Given the description of an element on the screen output the (x, y) to click on. 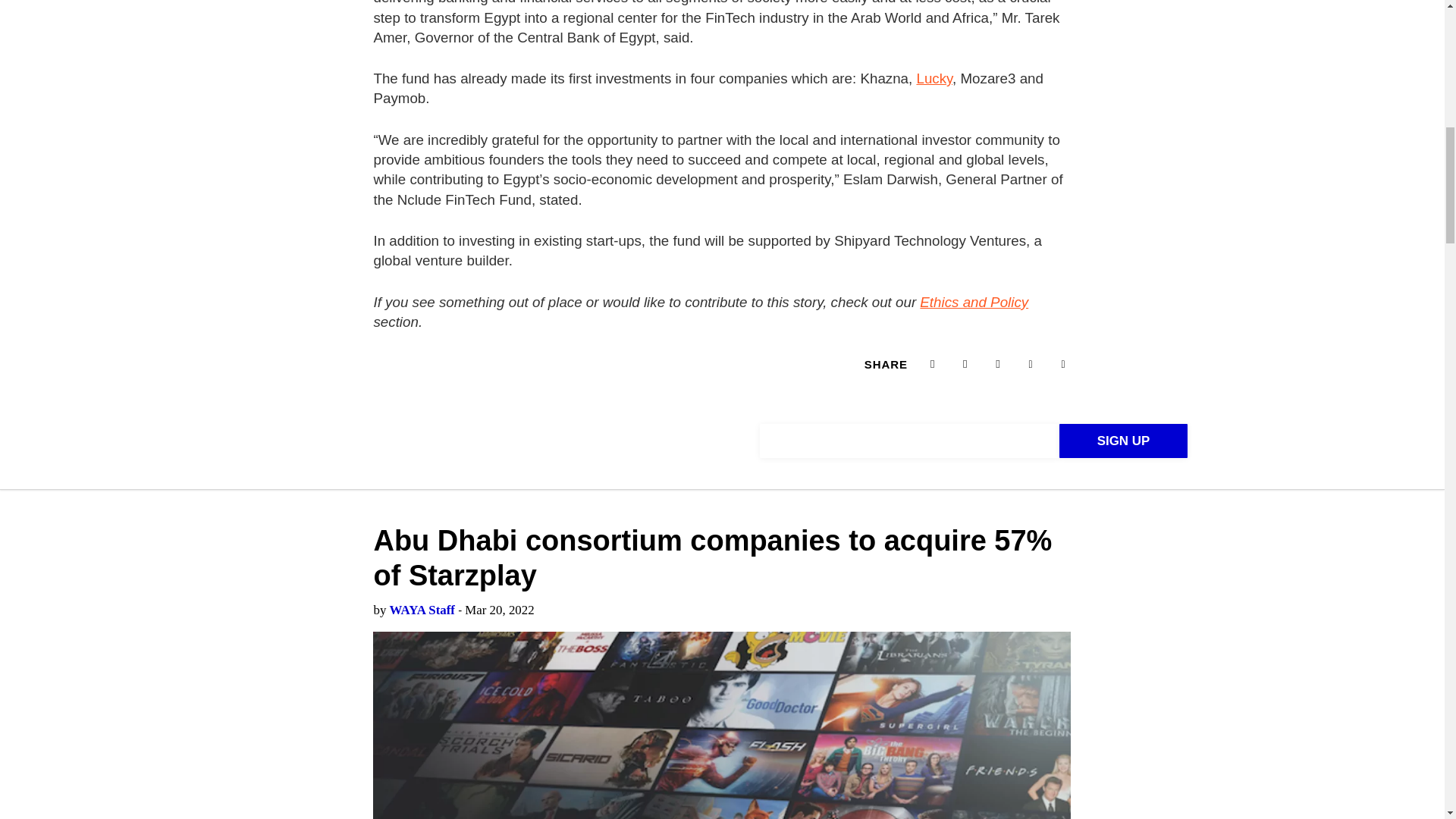
Sign up (1123, 440)
